Given the description of an element on the screen output the (x, y) to click on. 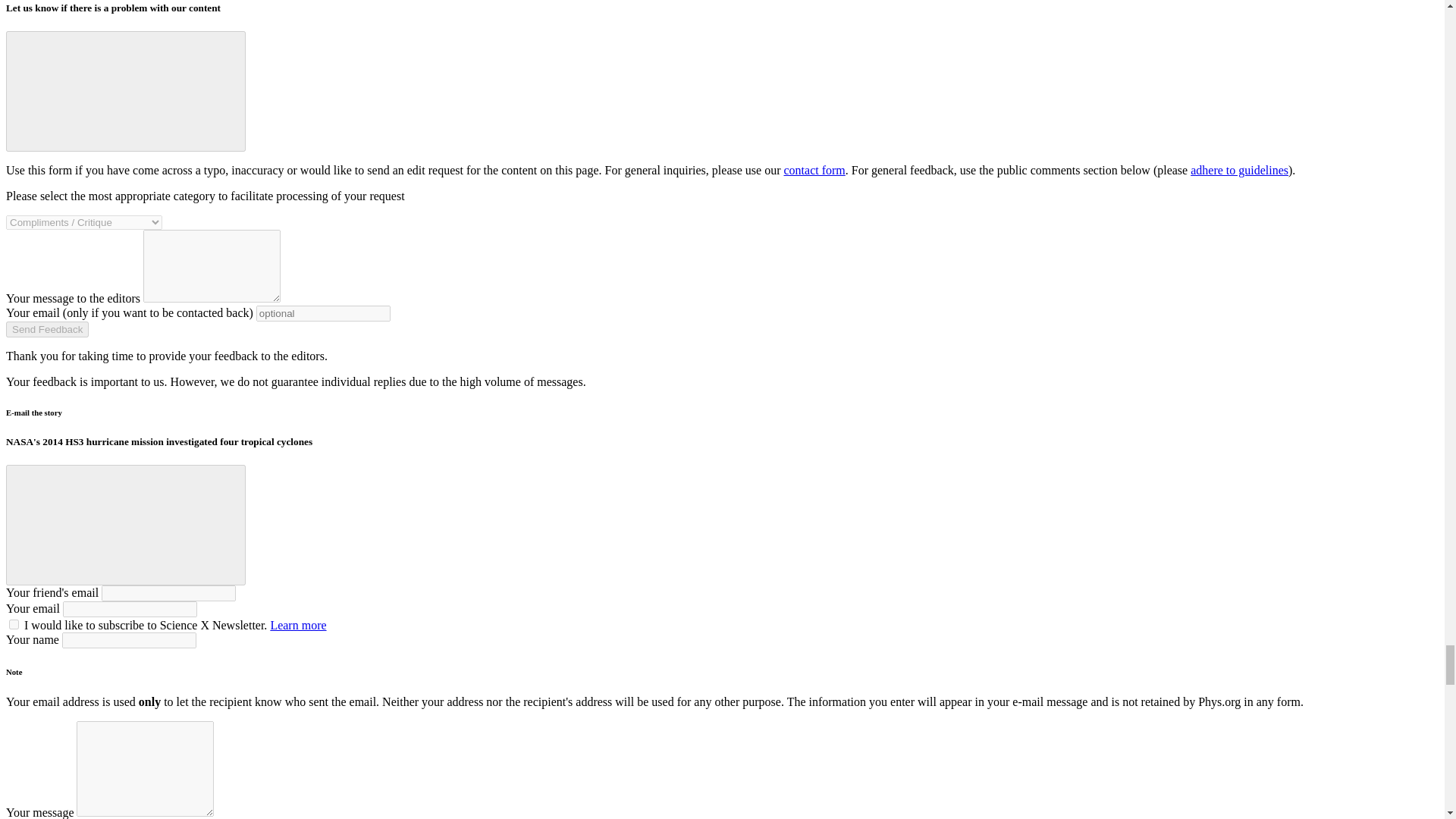
1 (13, 624)
